Given the description of an element on the screen output the (x, y) to click on. 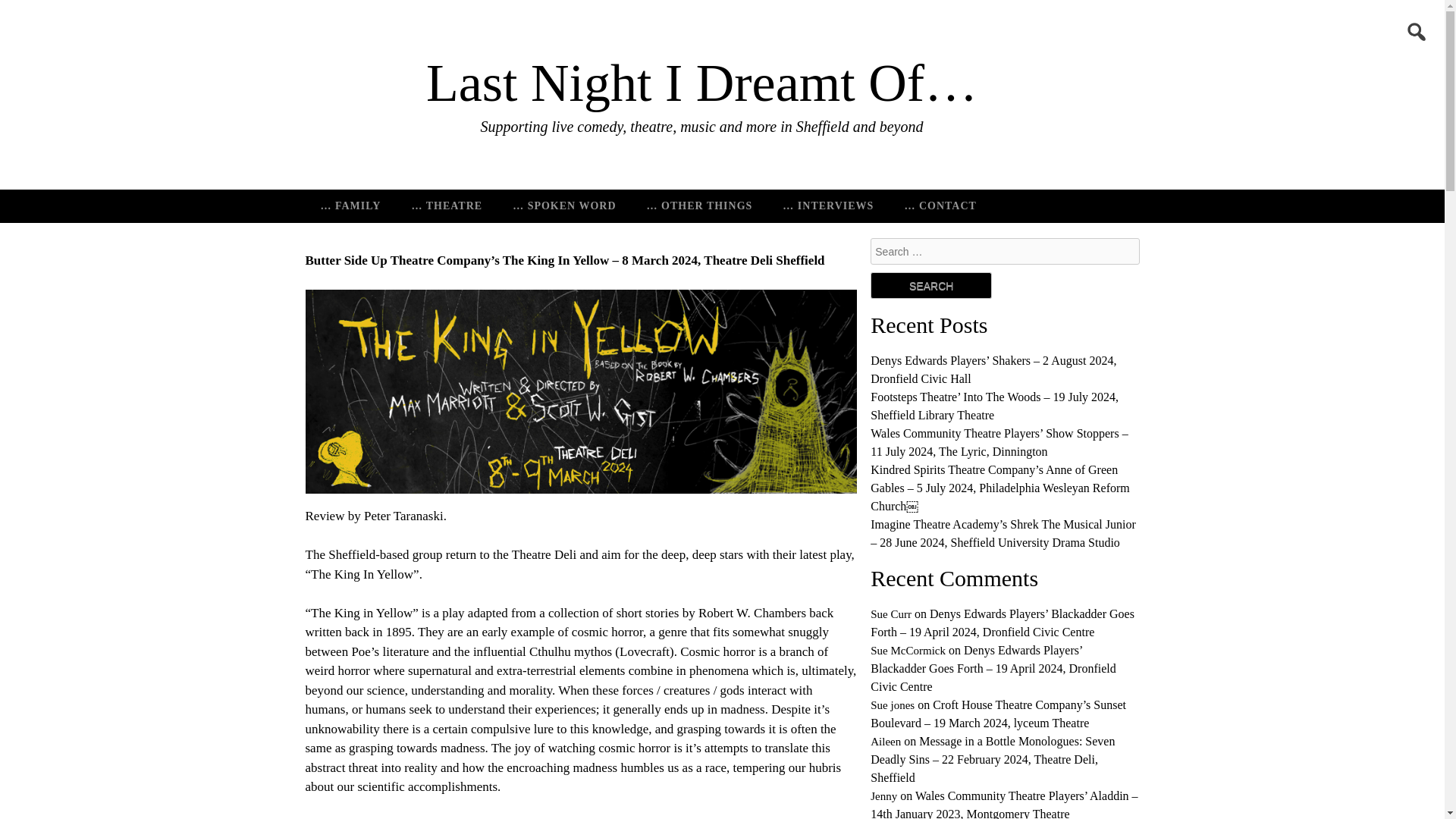
Search (930, 284)
Search (60, 13)
Search (930, 284)
Search (930, 284)
